Given the description of an element on the screen output the (x, y) to click on. 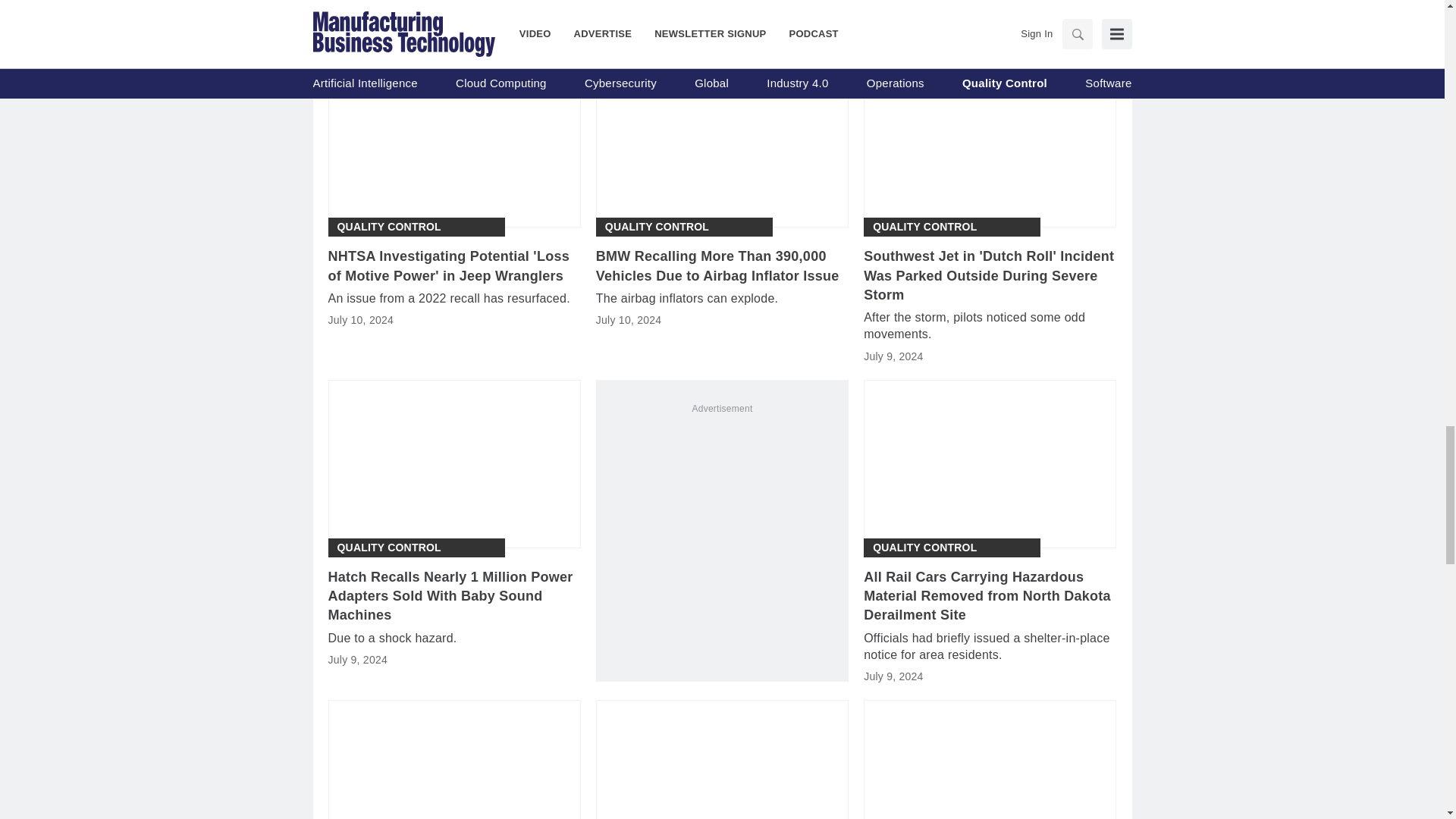
Quality Control (657, 227)
Quality Control (388, 227)
